Given the description of an element on the screen output the (x, y) to click on. 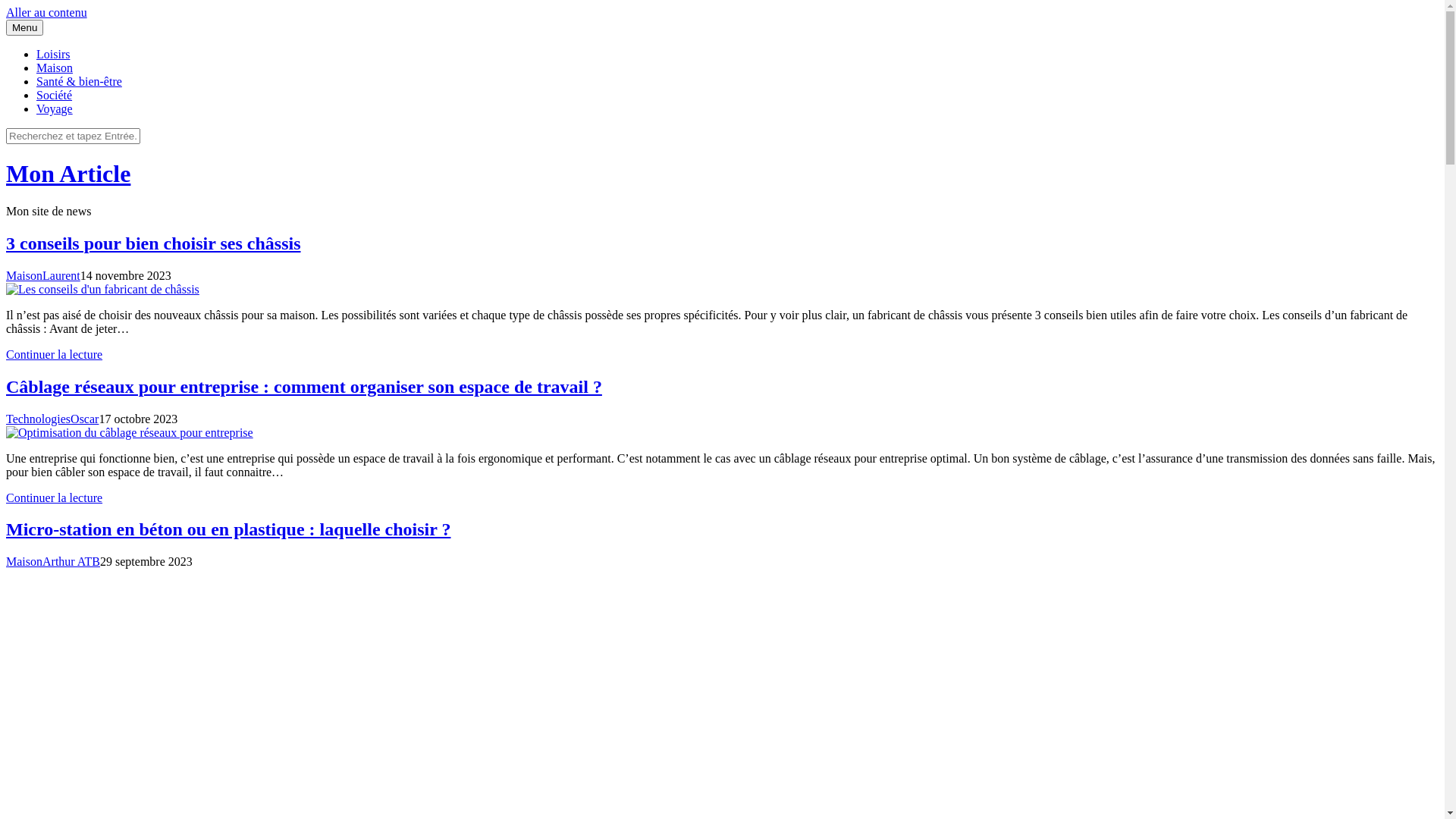
Laurent Element type: text (61, 275)
Aller au contenu Element type: text (46, 12)
Maison Element type: text (54, 67)
Mon Article Element type: text (68, 173)
Technologies Element type: text (38, 418)
Maison Element type: text (24, 561)
Continuer la lecture Element type: text (54, 354)
Oscar Element type: text (84, 418)
Voyage Element type: text (54, 108)
Loisirs Element type: text (52, 53)
Maison Element type: text (24, 275)
Arthur ATB Element type: text (71, 561)
Continuer la lecture Element type: text (54, 497)
Menu Element type: text (24, 27)
